Given the description of an element on the screen output the (x, y) to click on. 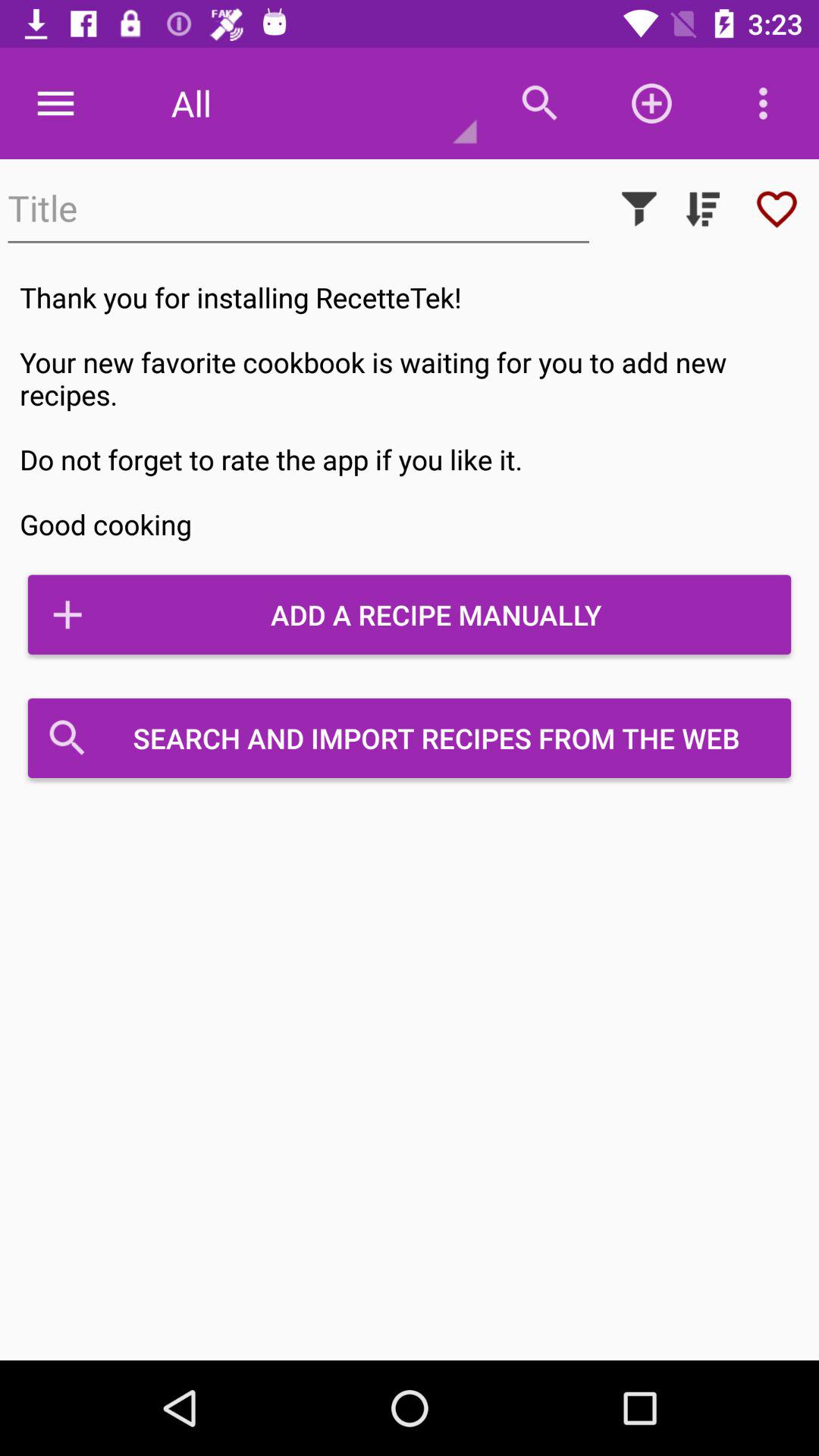
add a title (298, 208)
